Given the description of an element on the screen output the (x, y) to click on. 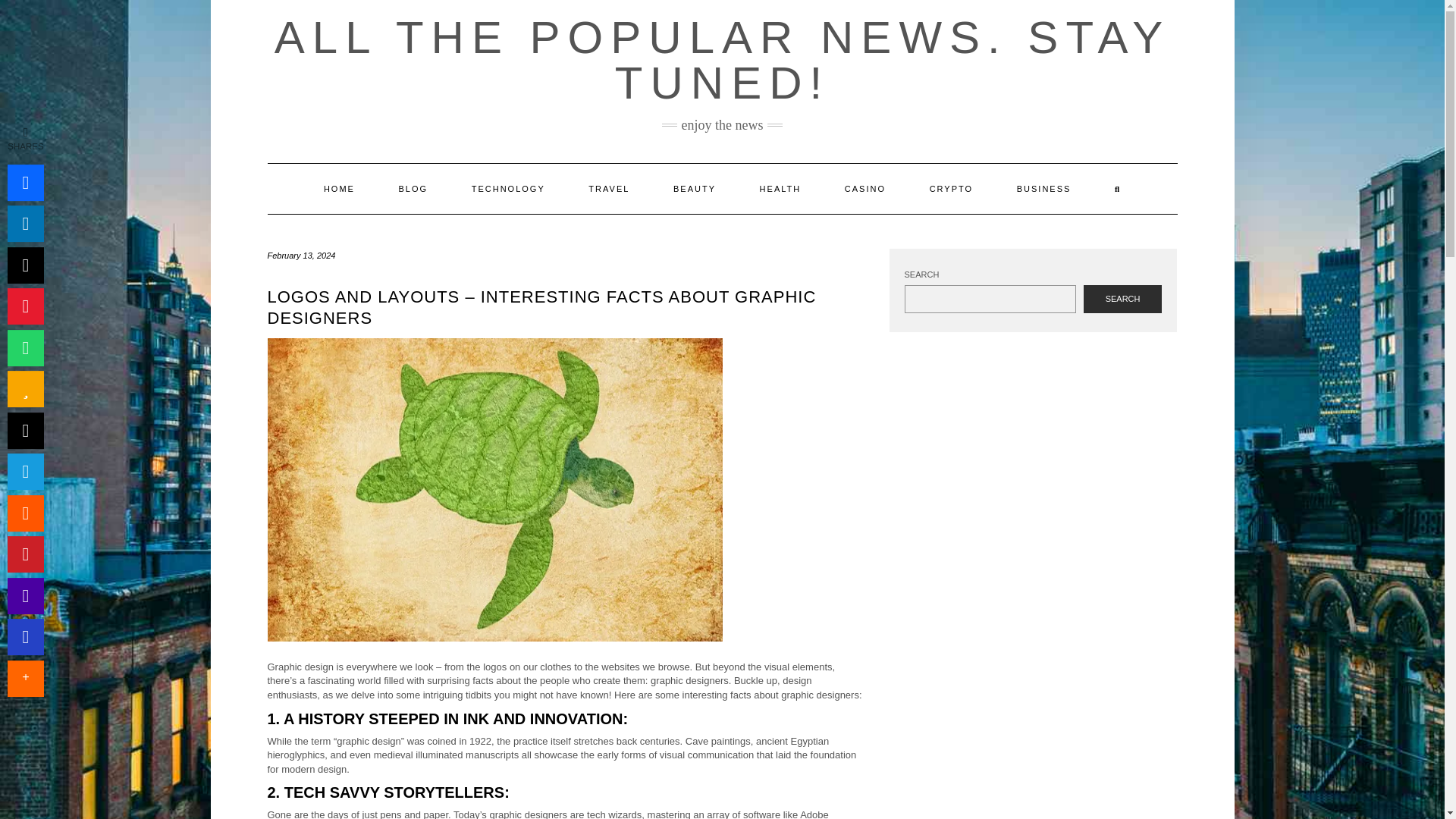
Submit this to Reddit (25, 513)
TRAVEL (608, 188)
More share links (25, 678)
HEALTH (780, 188)
Telegram (25, 471)
WhatsApp (25, 348)
Add this to Yahoo! Mail (25, 596)
ALL THE POPULAR NEWS. STAY TUNED! (722, 60)
BUSINESS (1043, 188)
BLOG (413, 188)
